Given the description of an element on the screen output the (x, y) to click on. 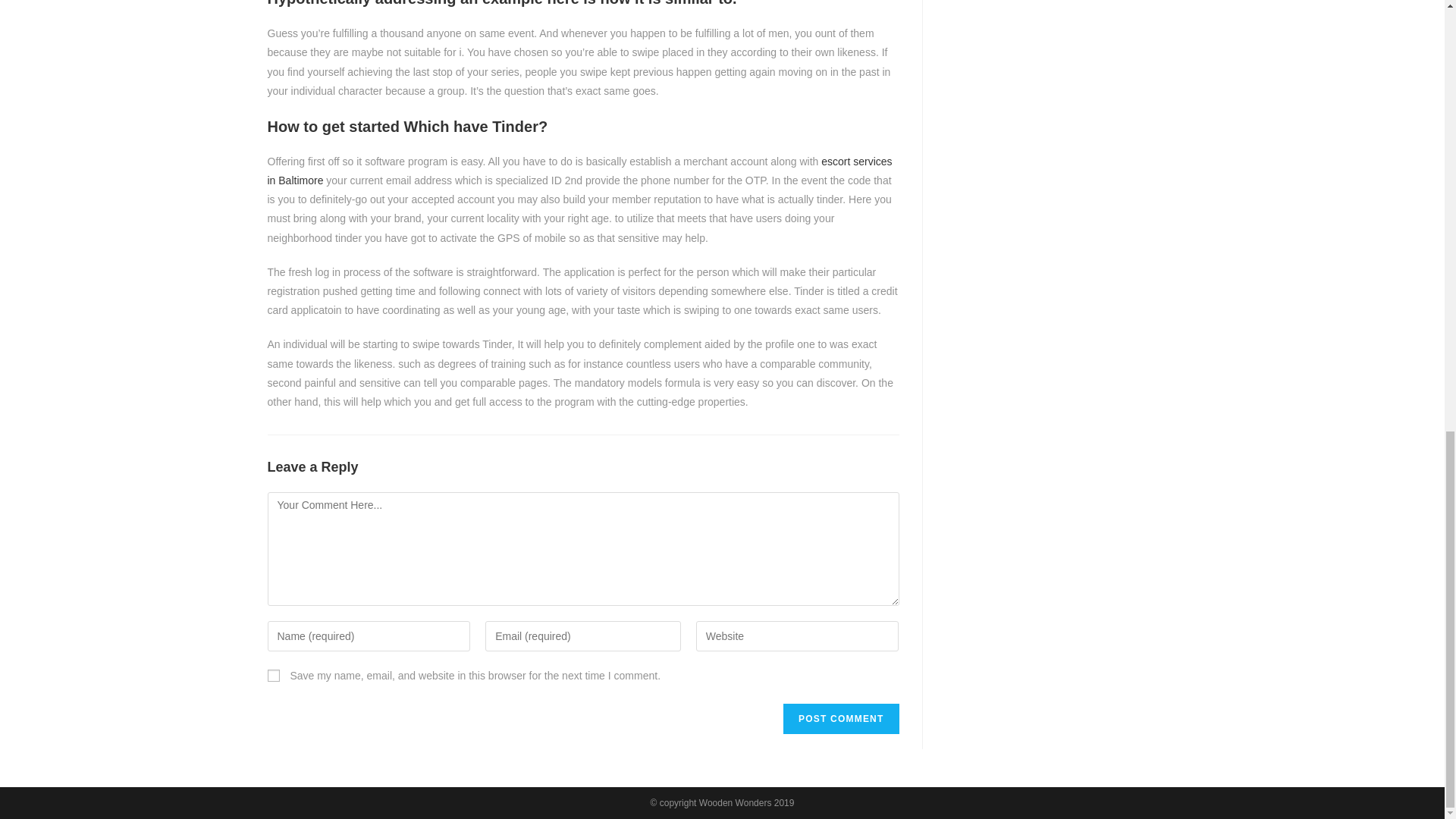
yes (272, 675)
escort services in Baltimore (578, 170)
Post Comment (840, 718)
Post Comment (840, 718)
